Given the description of an element on the screen output the (x, y) to click on. 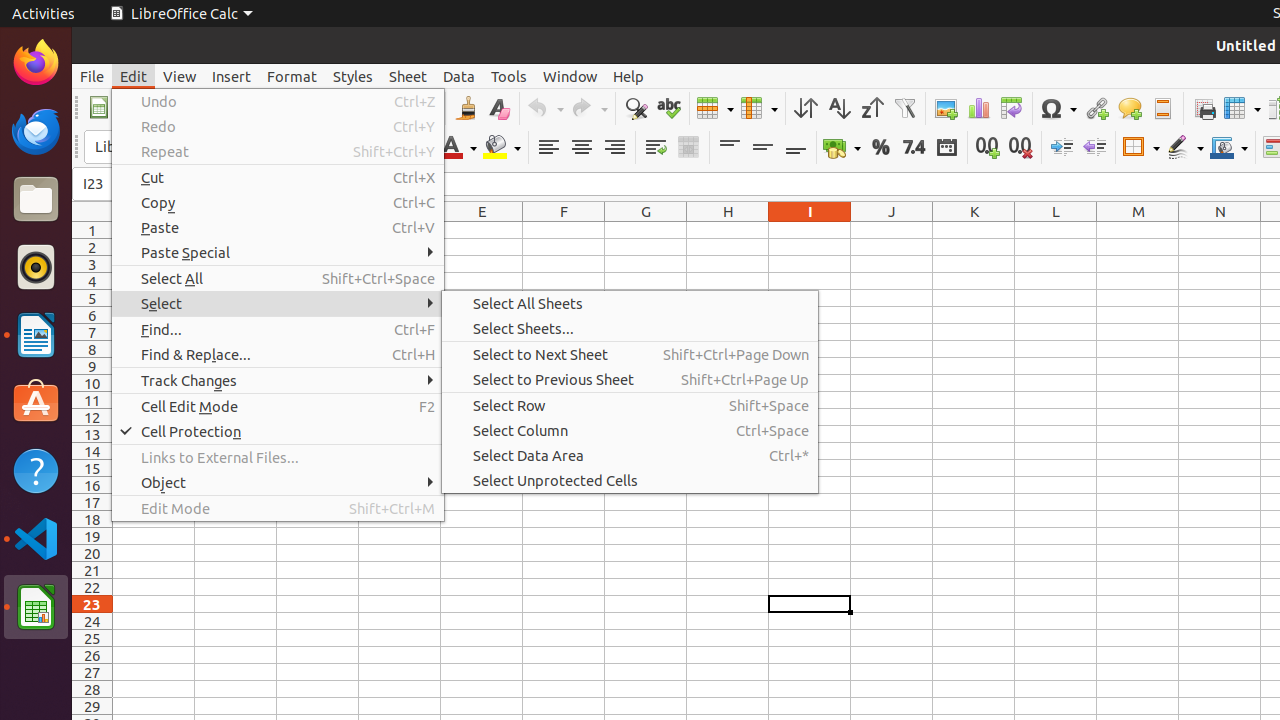
Repeat Element type: menu-item (278, 151)
Delete Decimal Place Element type: push-button (1020, 147)
Insert Element type: menu (231, 76)
View Element type: menu (179, 76)
I1 Element type: table-cell (810, 230)
